Given the description of an element on the screen output the (x, y) to click on. 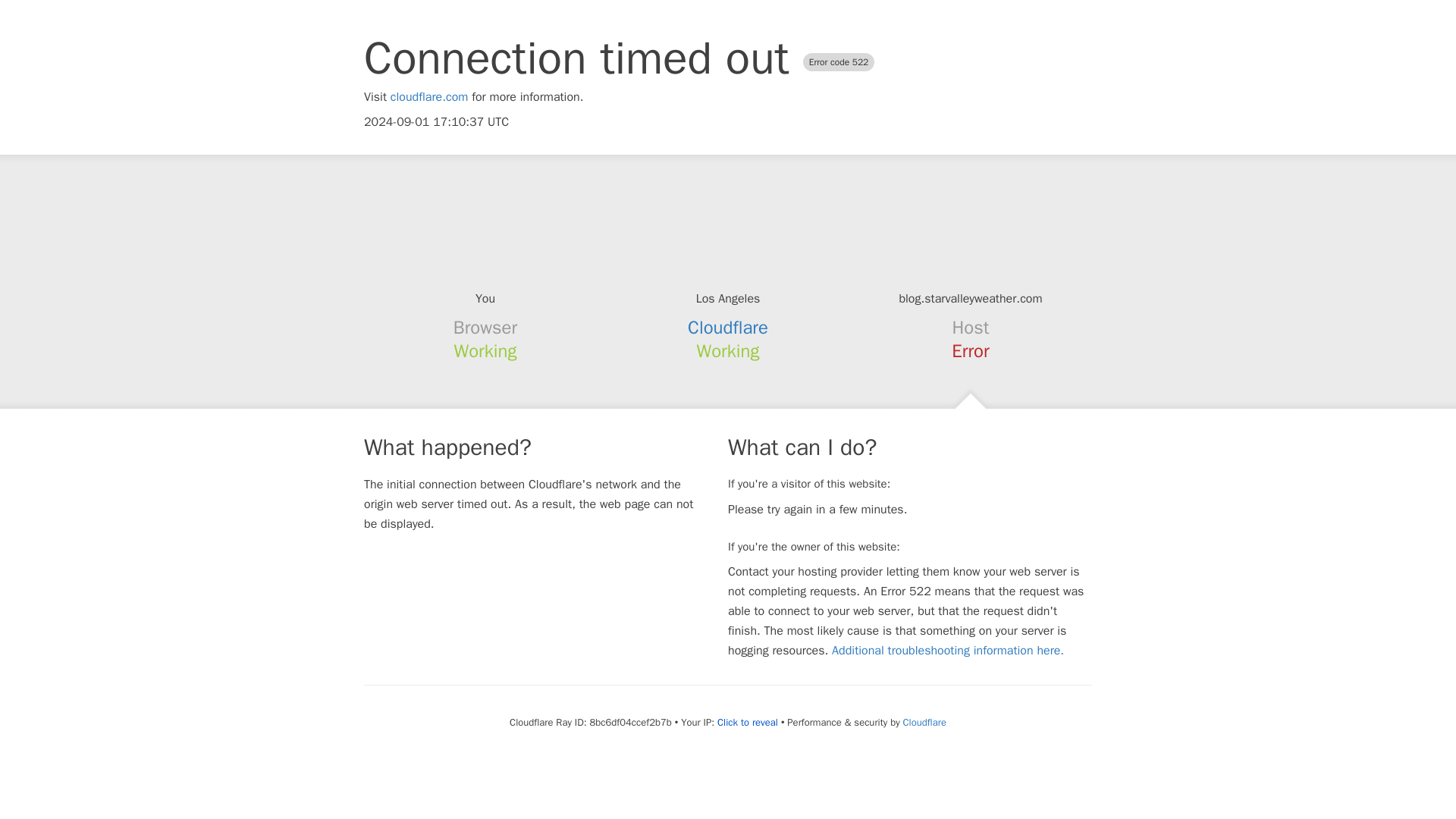
cloudflare.com (429, 96)
Cloudflare (727, 327)
Cloudflare (924, 721)
Click to reveal (747, 722)
Additional troubleshooting information here. (947, 650)
